Given the description of an element on the screen output the (x, y) to click on. 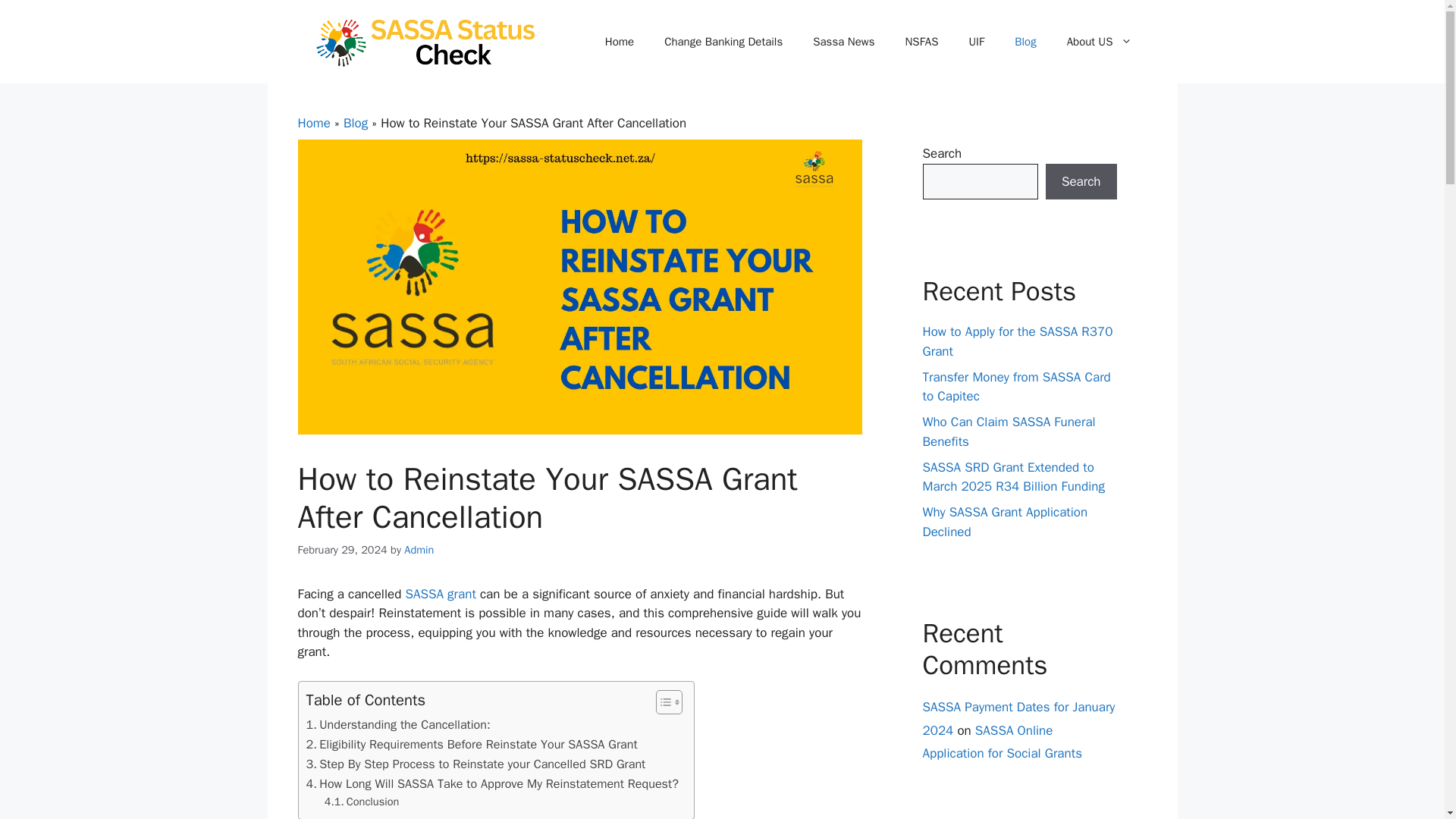
NSFAS (921, 41)
Conclusion (361, 801)
Blog (355, 123)
Who Can Claim SASSA Funeral Benefits (1007, 431)
Conclusion (361, 801)
Understanding the Cancellation: (397, 724)
Step By Step Process to Reinstate your Cancelled SRD Grant (475, 763)
SASSA grant (440, 593)
